Given the description of an element on the screen output the (x, y) to click on. 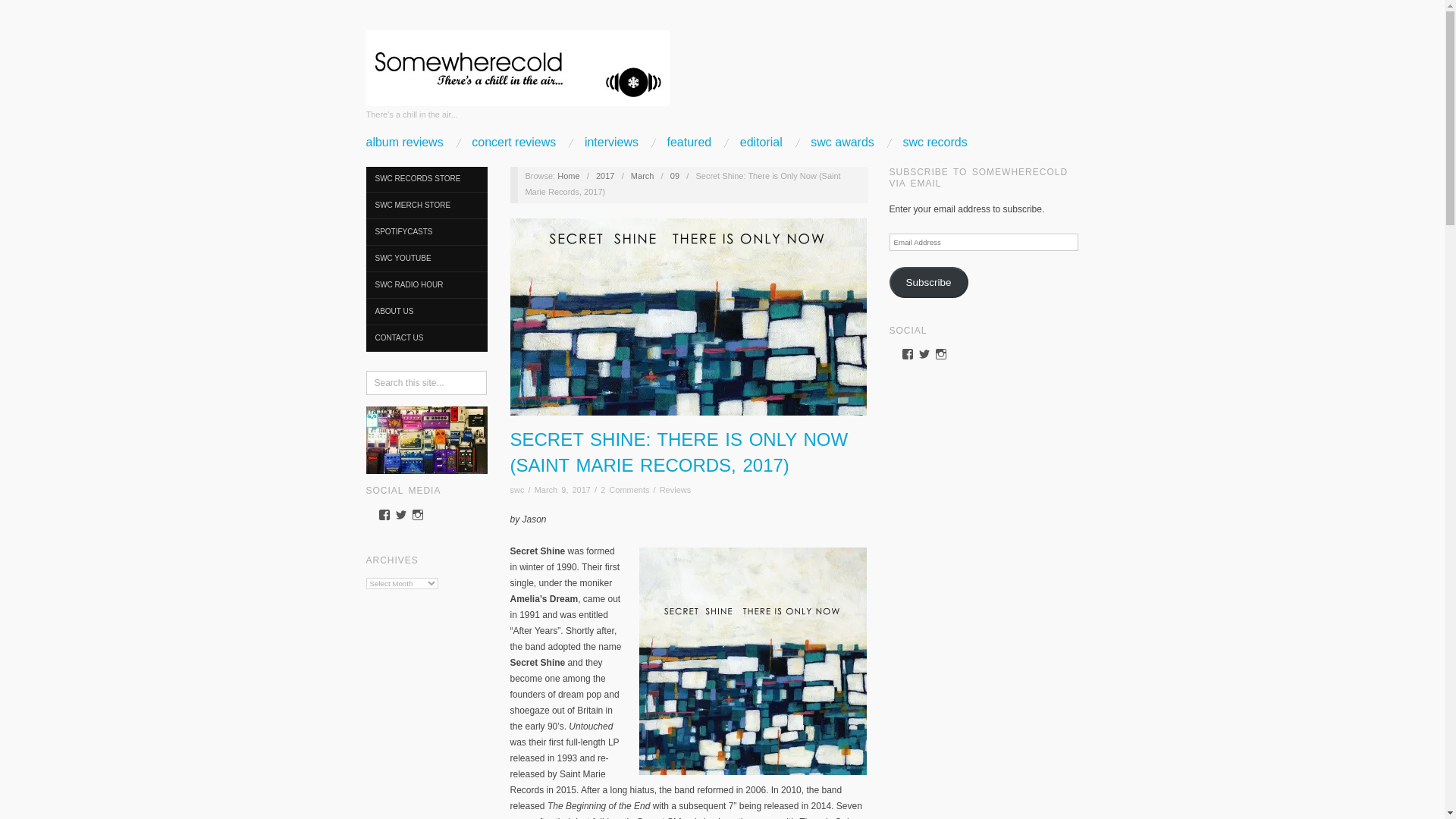
2017 (604, 175)
SWC MERCH STORE (425, 205)
SWC RADIO HOUR (425, 284)
swc awards (842, 142)
concert reviews (513, 142)
Search (24, 10)
2 Comments (624, 489)
March 9, 2017 (674, 175)
editorial (761, 142)
March 9, 2017 (562, 489)
